Given the description of an element on the screen output the (x, y) to click on. 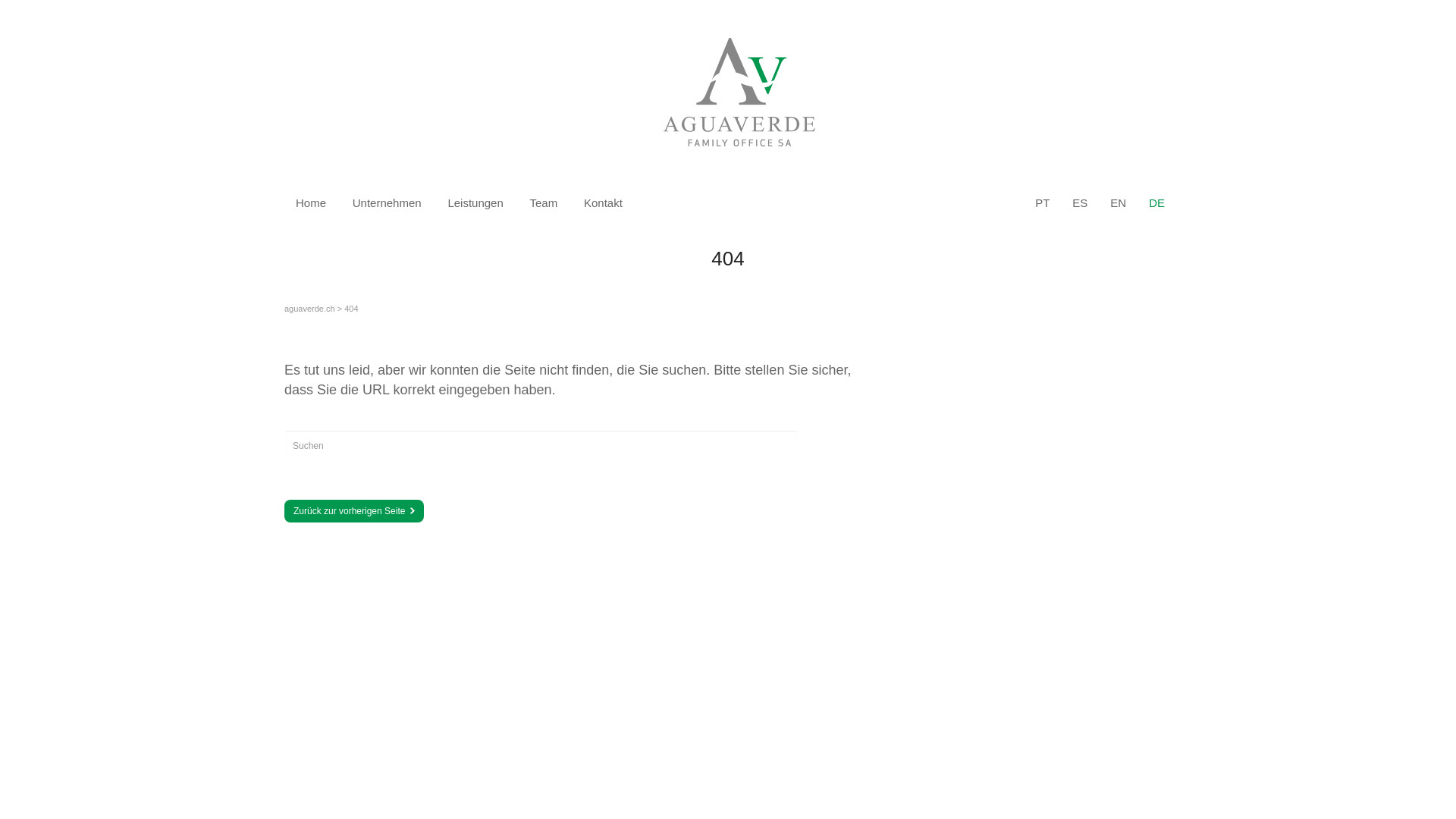
Home Element type: text (310, 202)
Team Element type: text (544, 202)
aguaverde.ch Element type: text (309, 308)
Kontakt Element type: text (602, 202)
EN Element type: text (1118, 202)
Leistungen Element type: text (474, 202)
404 Element type: text (350, 308)
DE Element type: text (1156, 202)
ES Element type: text (1079, 202)
Unternehmen Element type: text (386, 202)
PT Element type: text (1042, 202)
